Given the description of an element on the screen output the (x, y) to click on. 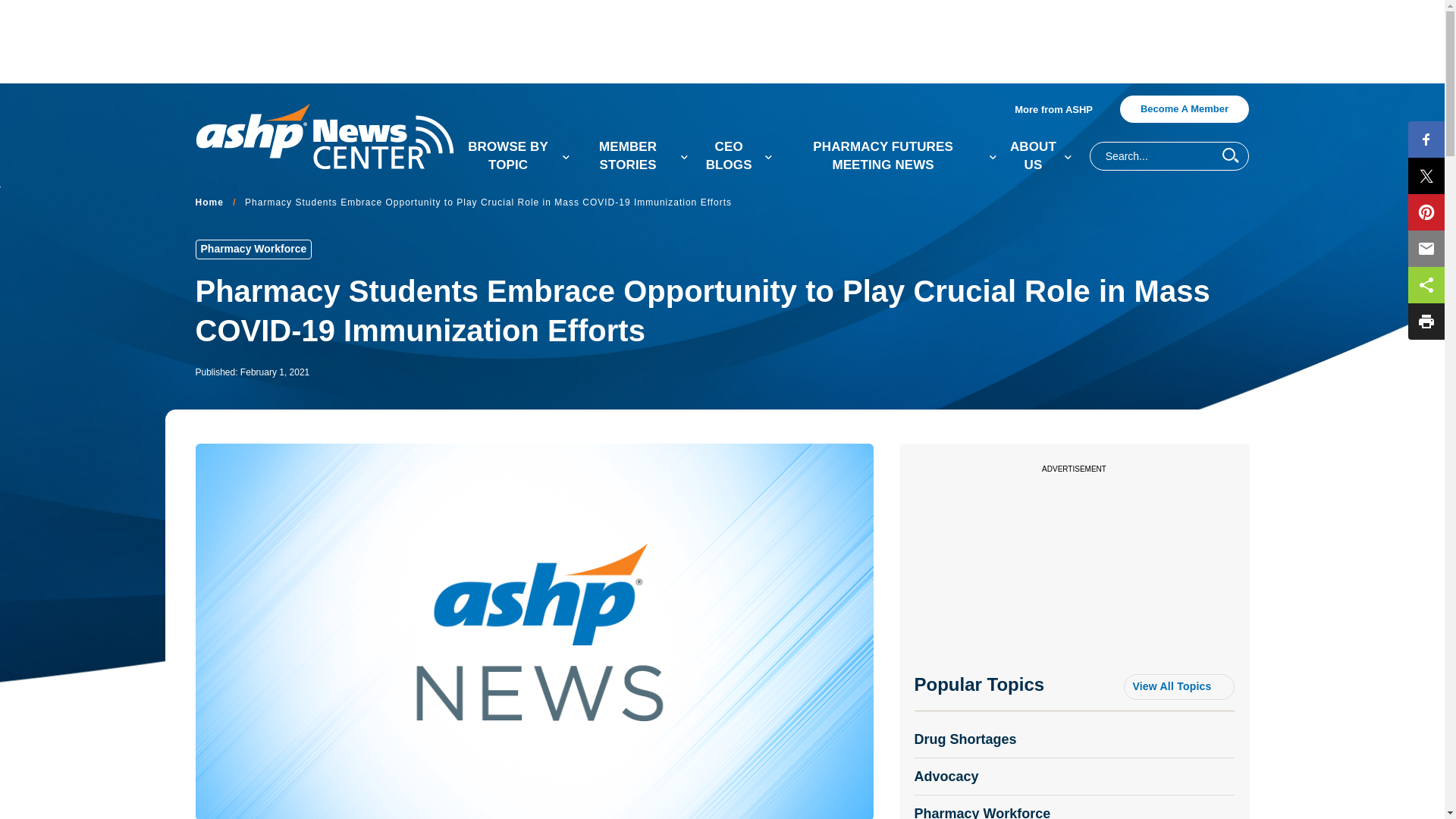
CEO BLOGS (735, 156)
Become A Member (1183, 108)
Insert a query. Press enter to send (1155, 155)
More from ASHP (1058, 109)
PHARMACY FUTURES MEETING NEWS (889, 156)
MEMBER STORIES (634, 156)
3rd party ad content (721, 41)
3rd party ad content (1073, 579)
BROWSE BY TOPIC (513, 156)
Home (209, 203)
ABOUT US (1039, 156)
